Given the description of an element on the screen output the (x, y) to click on. 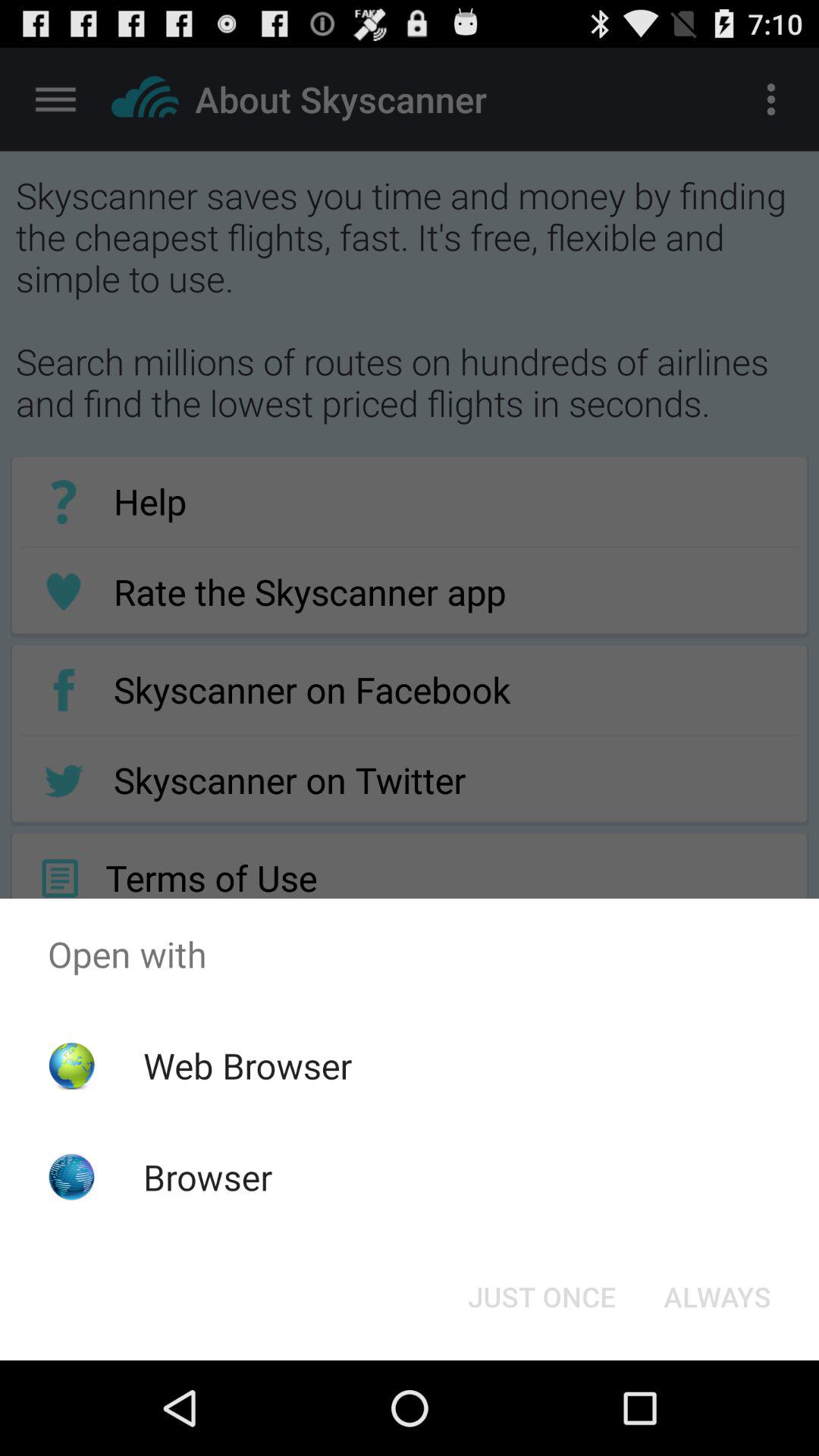
press app below the open with (541, 1296)
